Given the description of an element on the screen output the (x, y) to click on. 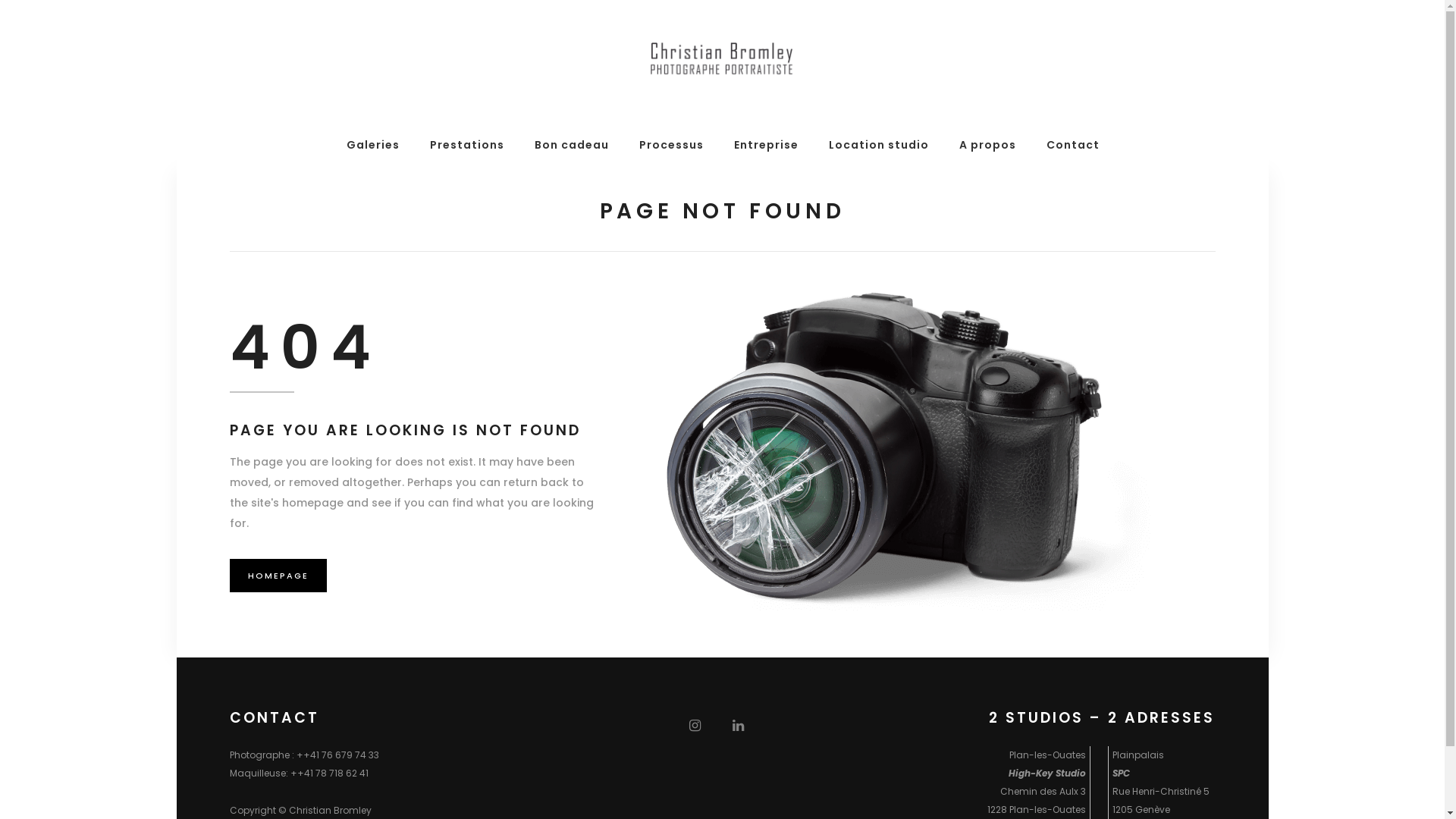
Entreprise Element type: text (765, 144)
Bon cadeau Element type: text (570, 144)
Location studio Element type: text (877, 144)
A propos Element type: text (986, 144)
HOMEPAGE Element type: text (277, 575)
Contact Element type: text (1072, 144)
Processus Element type: text (670, 144)
Prestations Element type: text (466, 144)
Galeries Element type: text (372, 144)
